Given the description of an element on the screen output the (x, y) to click on. 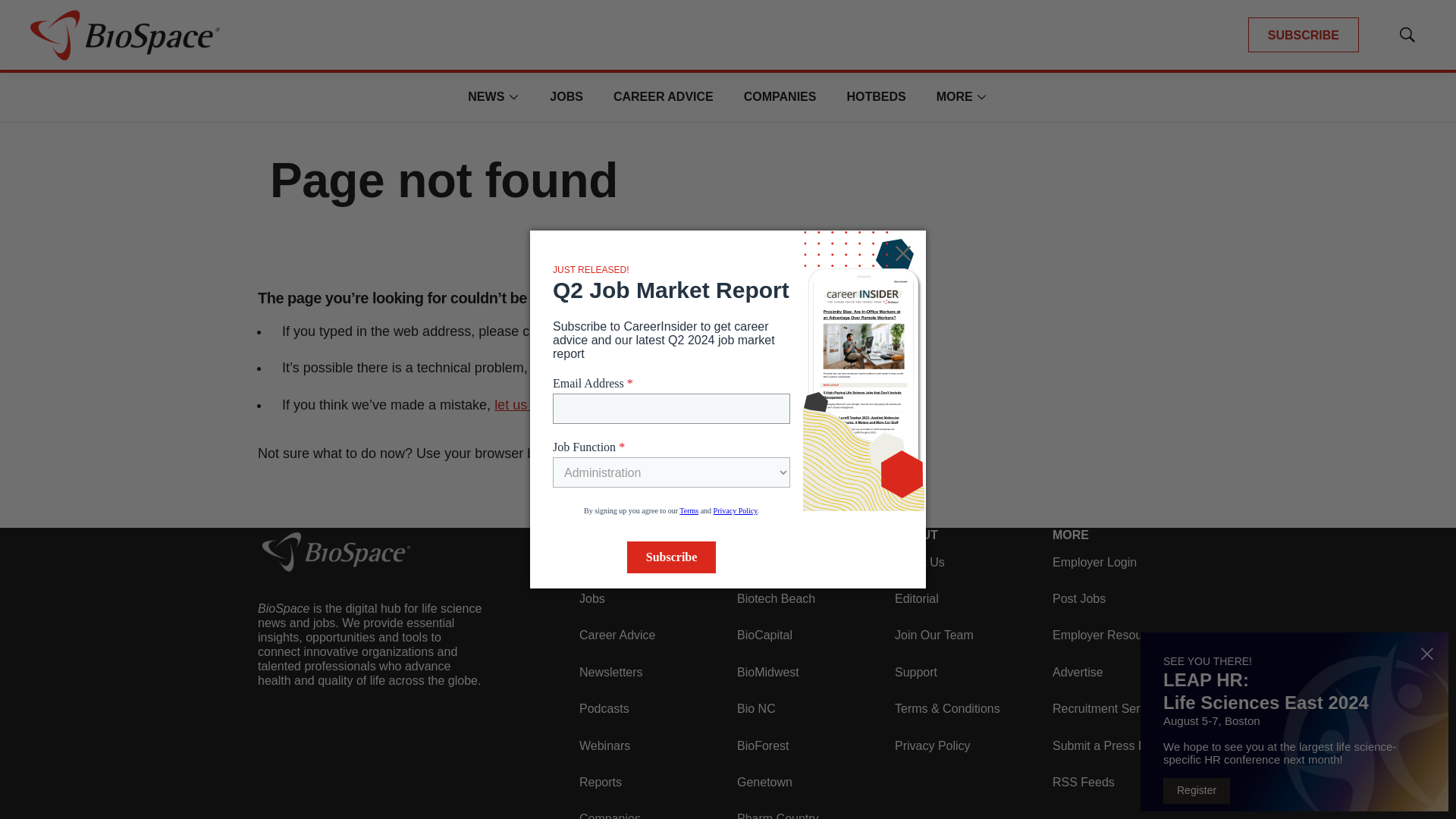
Popup CTA (1294, 721)
SUBSCRIBE (1302, 34)
Show Search (1407, 34)
NEWS (485, 96)
